Given the description of an element on the screen output the (x, y) to click on. 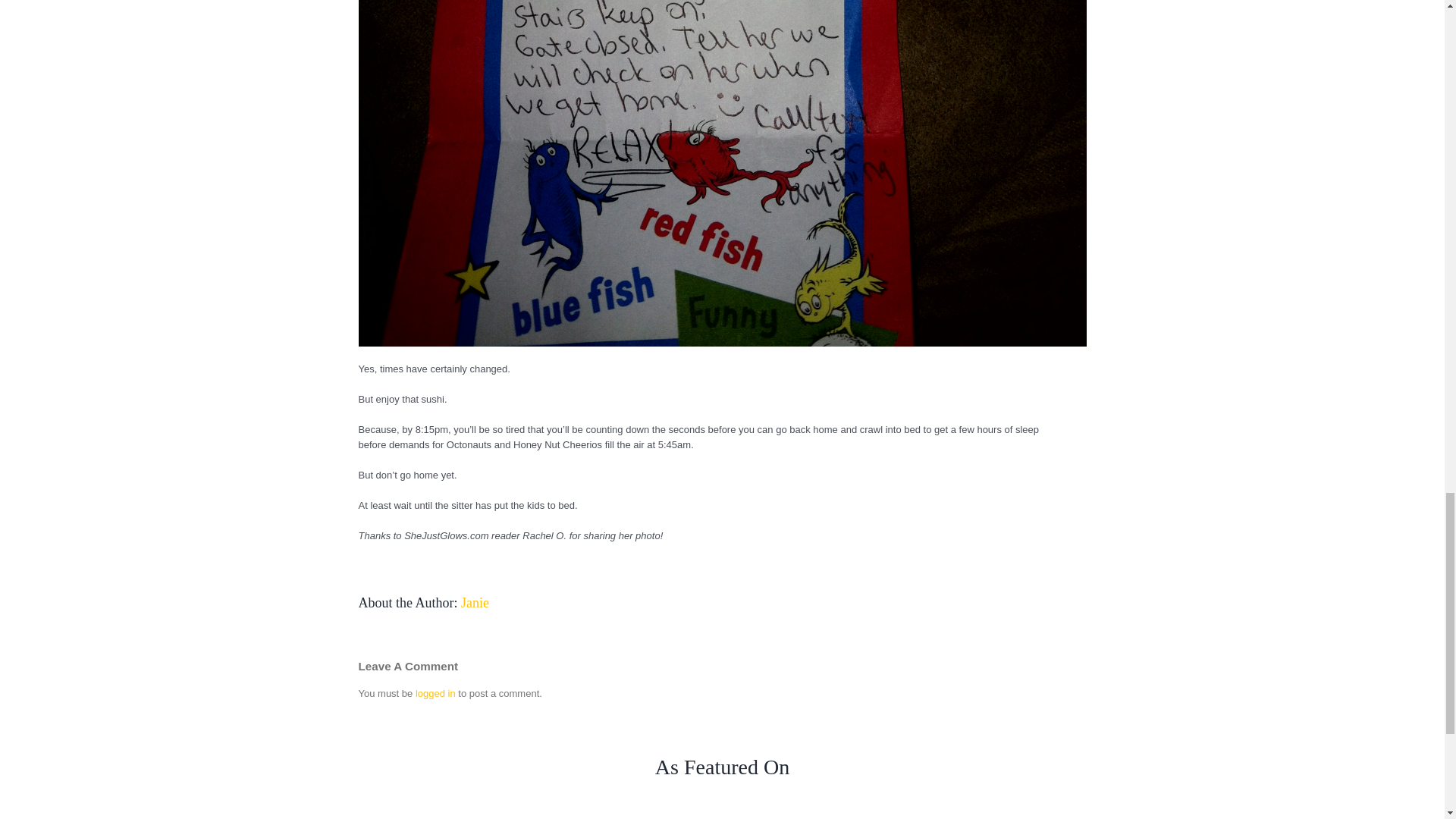
Janie (475, 602)
logged in (434, 693)
Posts by Janie (475, 602)
